Given the description of an element on the screen output the (x, y) to click on. 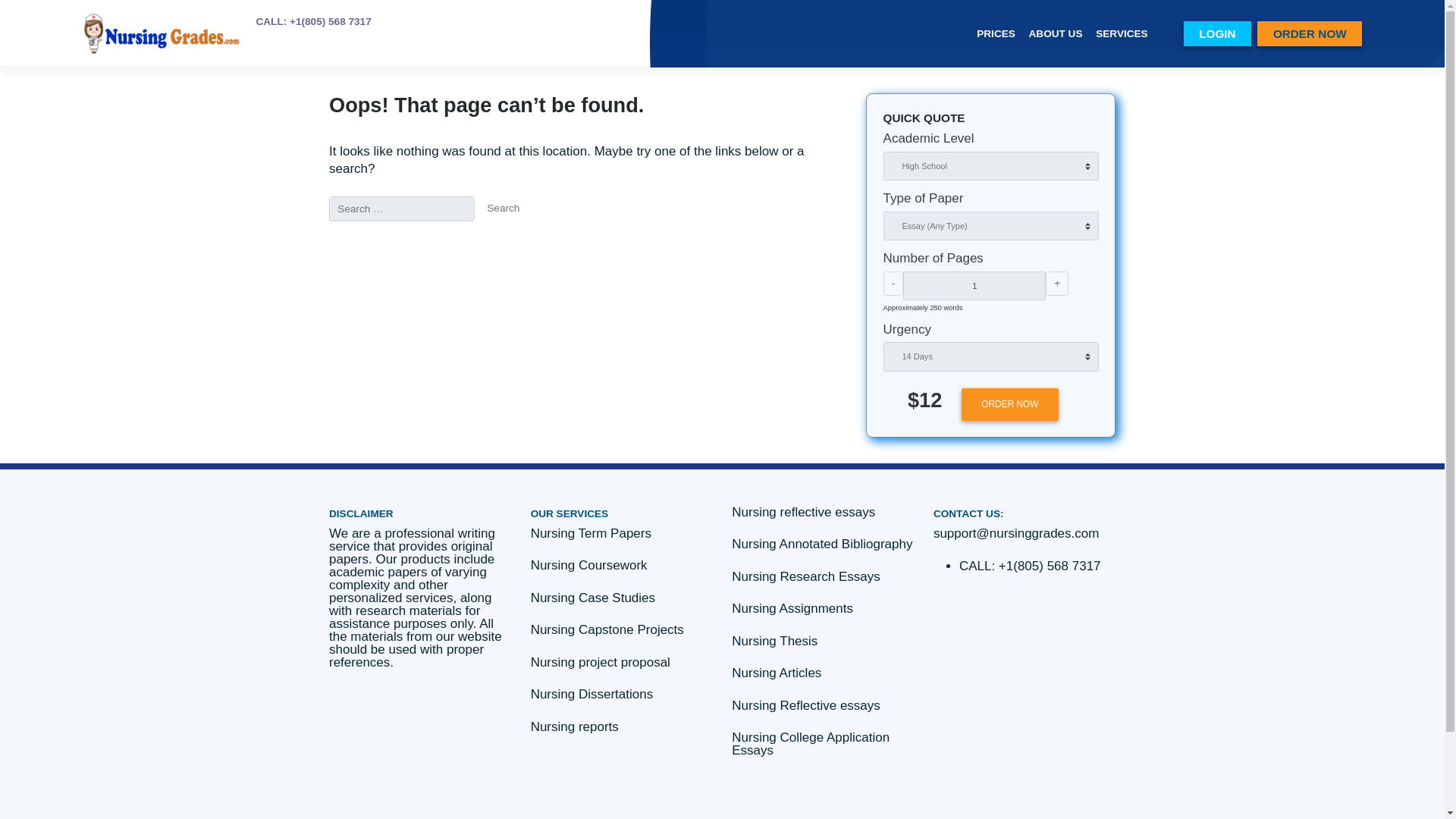
Search (591, 245)
LOGIN (1426, 39)
ABOUT US (1241, 39)
ABOUT US (1241, 39)
LOGIN (1426, 39)
PRICES (1171, 39)
Search (591, 245)
SERVICES (1319, 39)
SERVICES (1319, 39)
Search (591, 245)
